Given the description of an element on the screen output the (x, y) to click on. 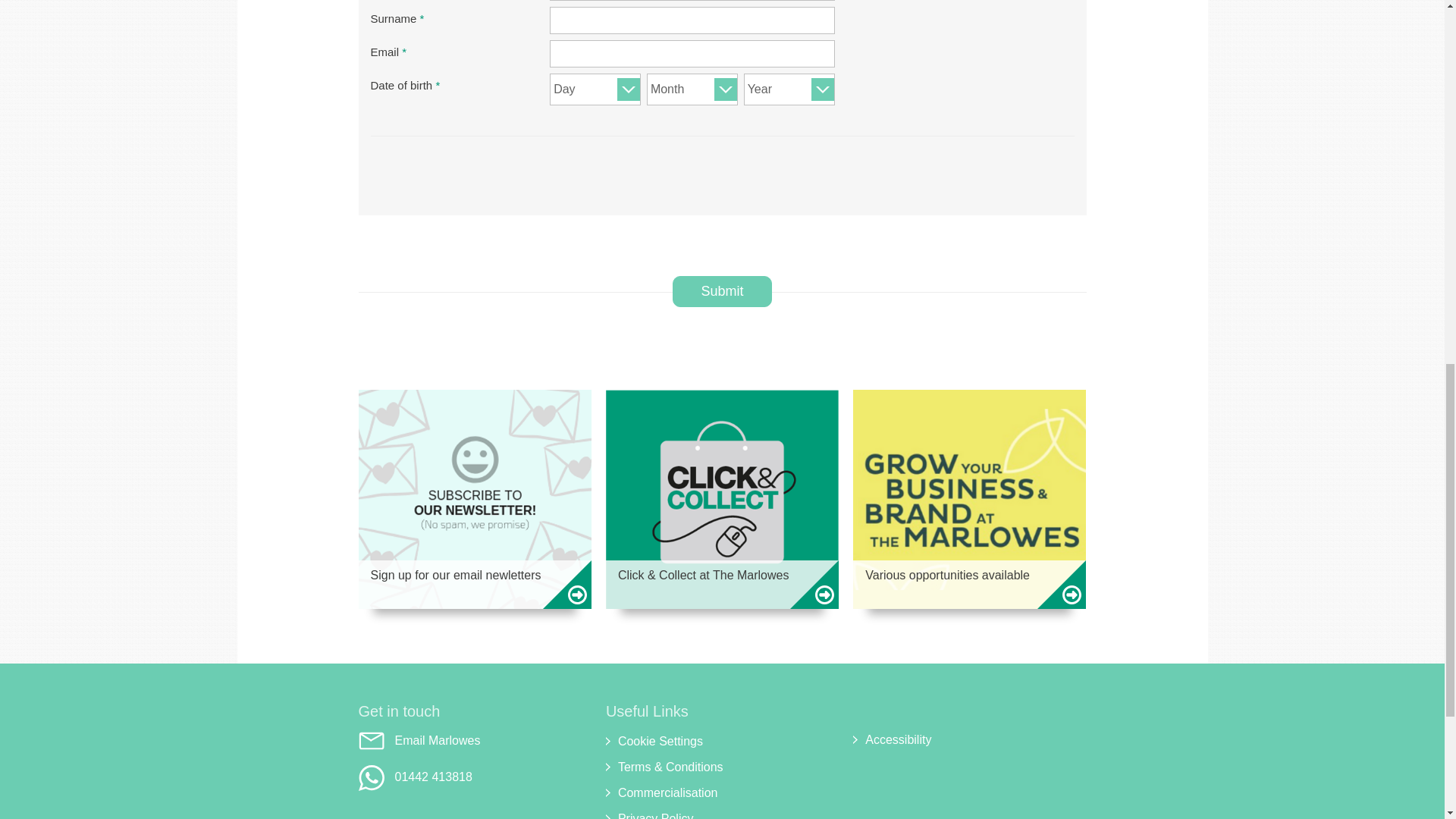
Commercialisation (721, 792)
Privacy Policy (721, 814)
Email Marlowes (474, 740)
Telephone Marlowes (474, 777)
Accessibility (969, 740)
